Given the description of an element on the screen output the (x, y) to click on. 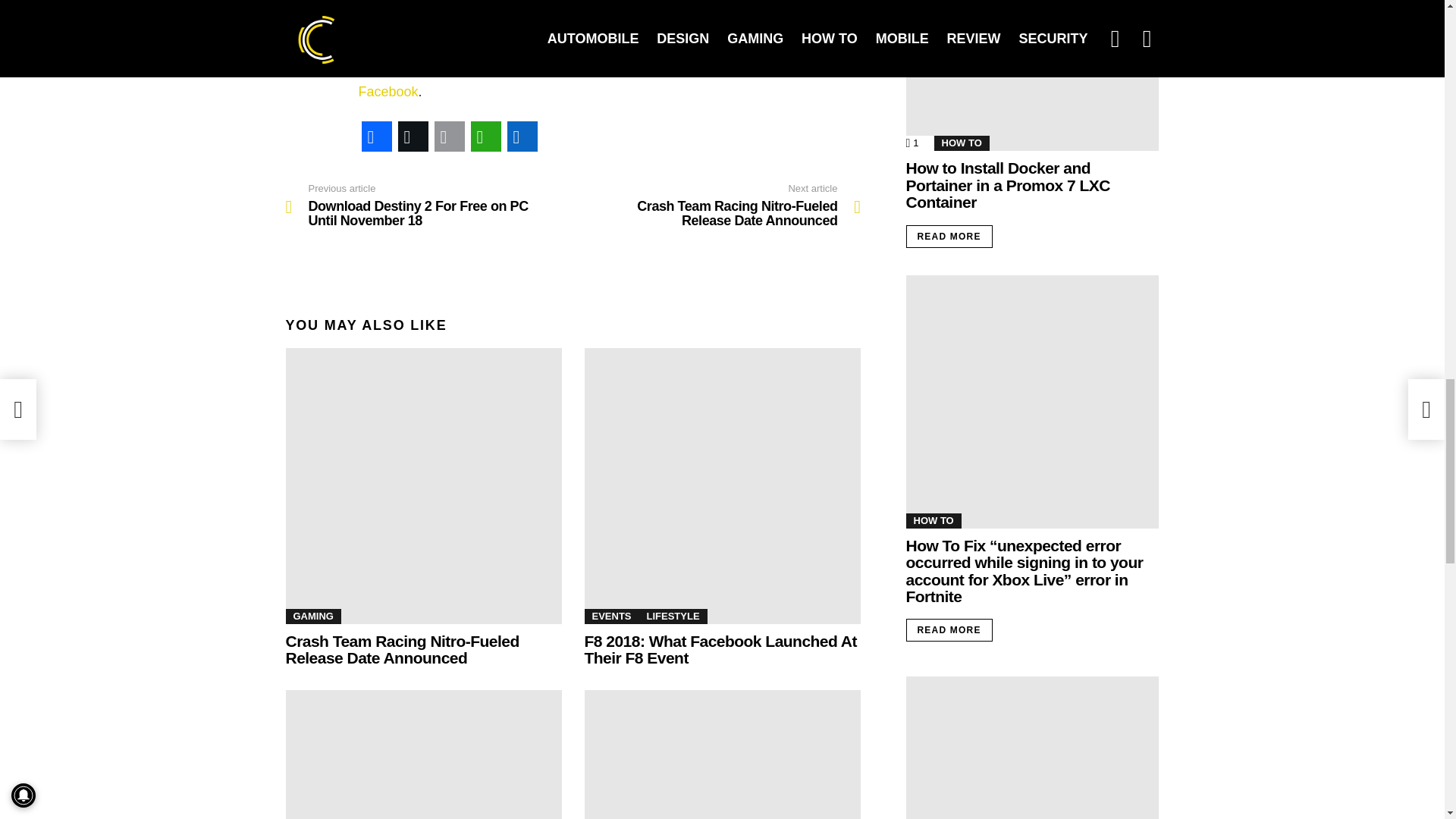
Email This (448, 135)
LinkedIn (521, 135)
F8 2018: What Facebook Launched At Their F8 Event (719, 649)
GAMING (312, 616)
WhatsApp (485, 135)
Crash Team Racing Nitro-Fueled Release Date Announced (401, 649)
Twitter (689, 68)
Instagram (747, 68)
Crash Team Racing Nitro-Fueled Release Date Announced (422, 486)
EVENTS (611, 616)
Facebook (376, 135)
LIFESTYLE (673, 616)
